Given the description of an element on the screen output the (x, y) to click on. 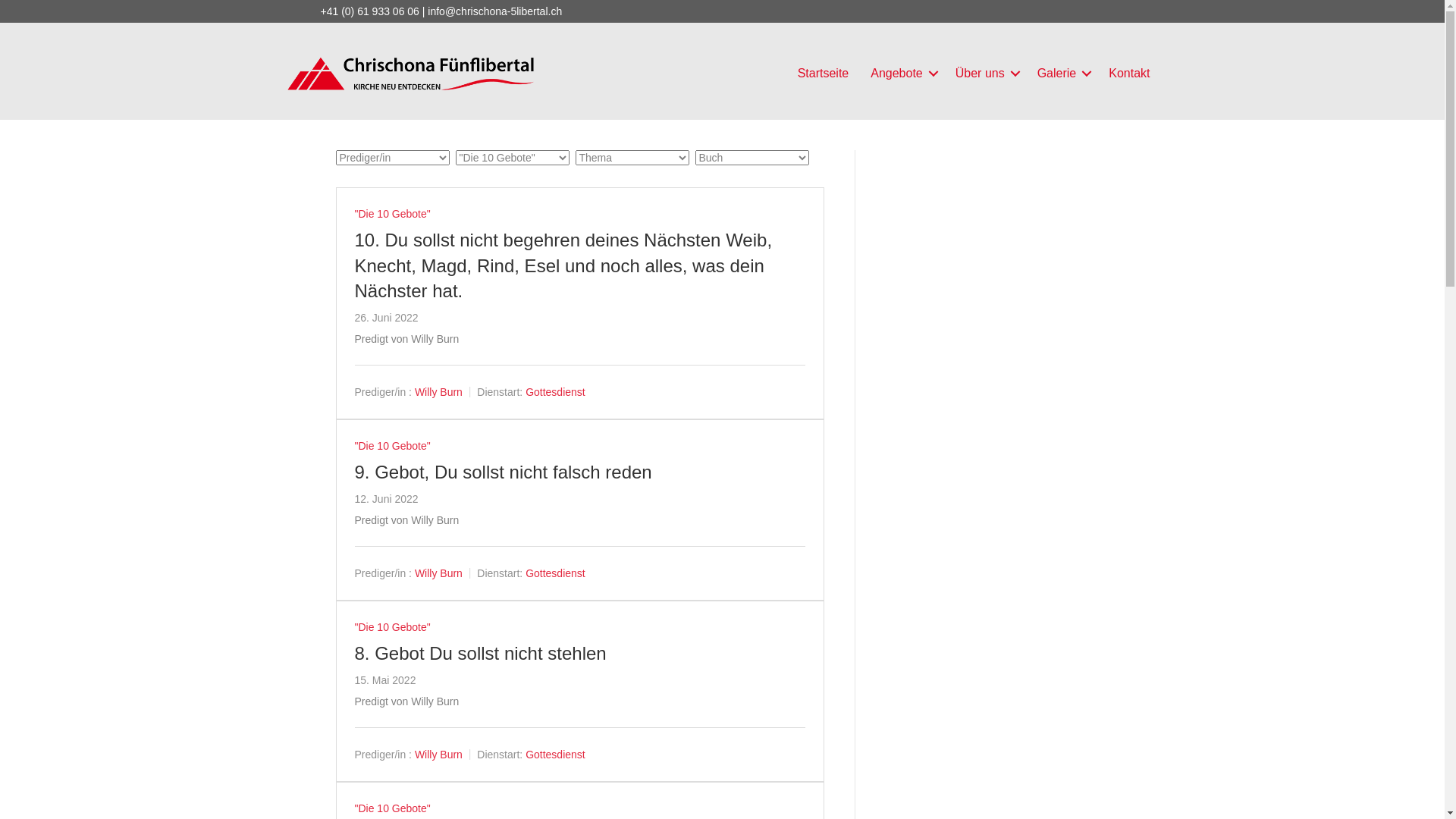
Willy Burn Element type: text (438, 573)
Startseite Element type: text (823, 72)
Galerie Element type: text (1062, 72)
Willy Burn Element type: text (438, 754)
9. Gebot, Du sollst nicht falsch reden Element type: text (503, 471)
Angebote Element type: text (901, 72)
Gottesdienst Element type: text (555, 573)
8. Gebot Du sollst nicht stehlen Element type: text (480, 653)
"Die 10 Gebote" Element type: text (392, 627)
"Die 10 Gebote" Element type: text (392, 808)
"Die 10 Gebote" Element type: text (392, 213)
Willy Burn Element type: text (438, 391)
+41 (0) 61 933 06 06 Element type: text (369, 11)
Gottesdienst Element type: text (555, 391)
info@chrischona-5libertal.ch Element type: text (494, 11)
"Die 10 Gebote" Element type: text (392, 445)
Kontakt Element type: text (1129, 72)
Gottesdienst Element type: text (555, 754)
